Given the description of an element on the screen output the (x, y) to click on. 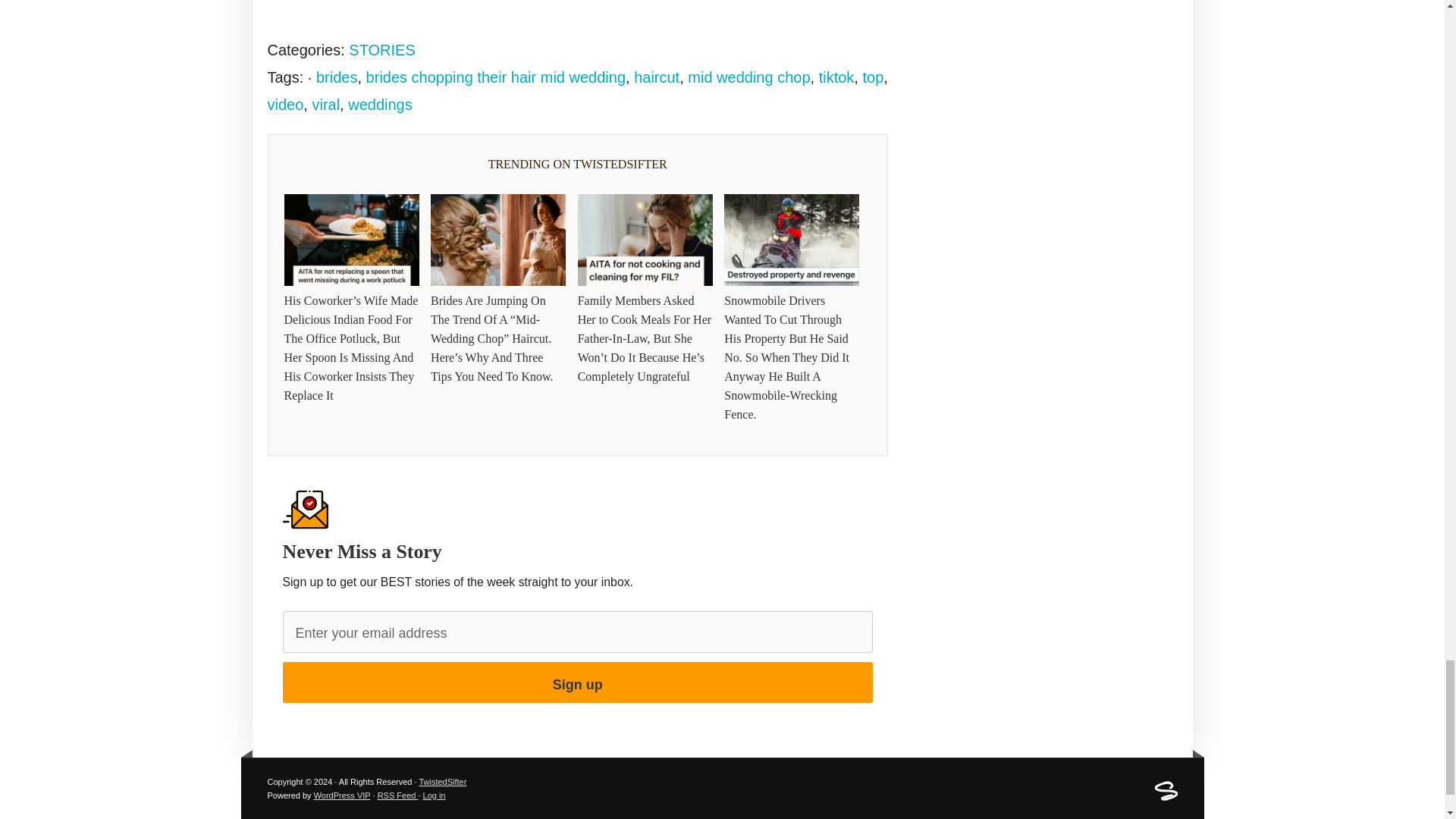
Feeling Sifty? (1165, 798)
STORIES (381, 49)
Sign up (577, 681)
brides chopping their hair mid wedding (496, 77)
brides (335, 77)
